Given the description of an element on the screen output the (x, y) to click on. 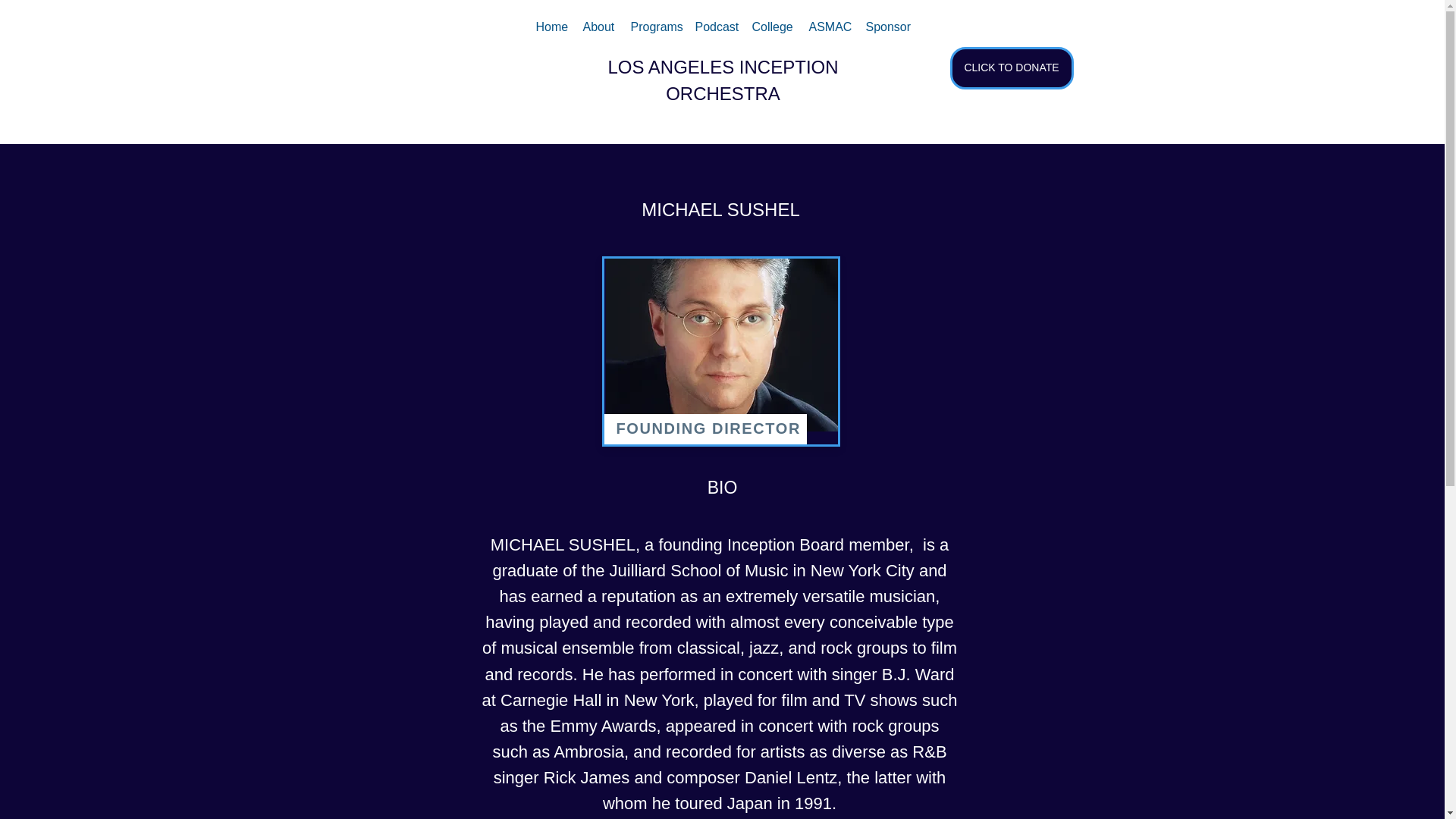
ASMAC (828, 26)
CLICK TO DONATE (1011, 67)
Podcast (715, 26)
Home (551, 26)
Programs (655, 26)
About (599, 26)
Sponsor (888, 26)
College (773, 26)
